Given the description of an element on the screen output the (x, y) to click on. 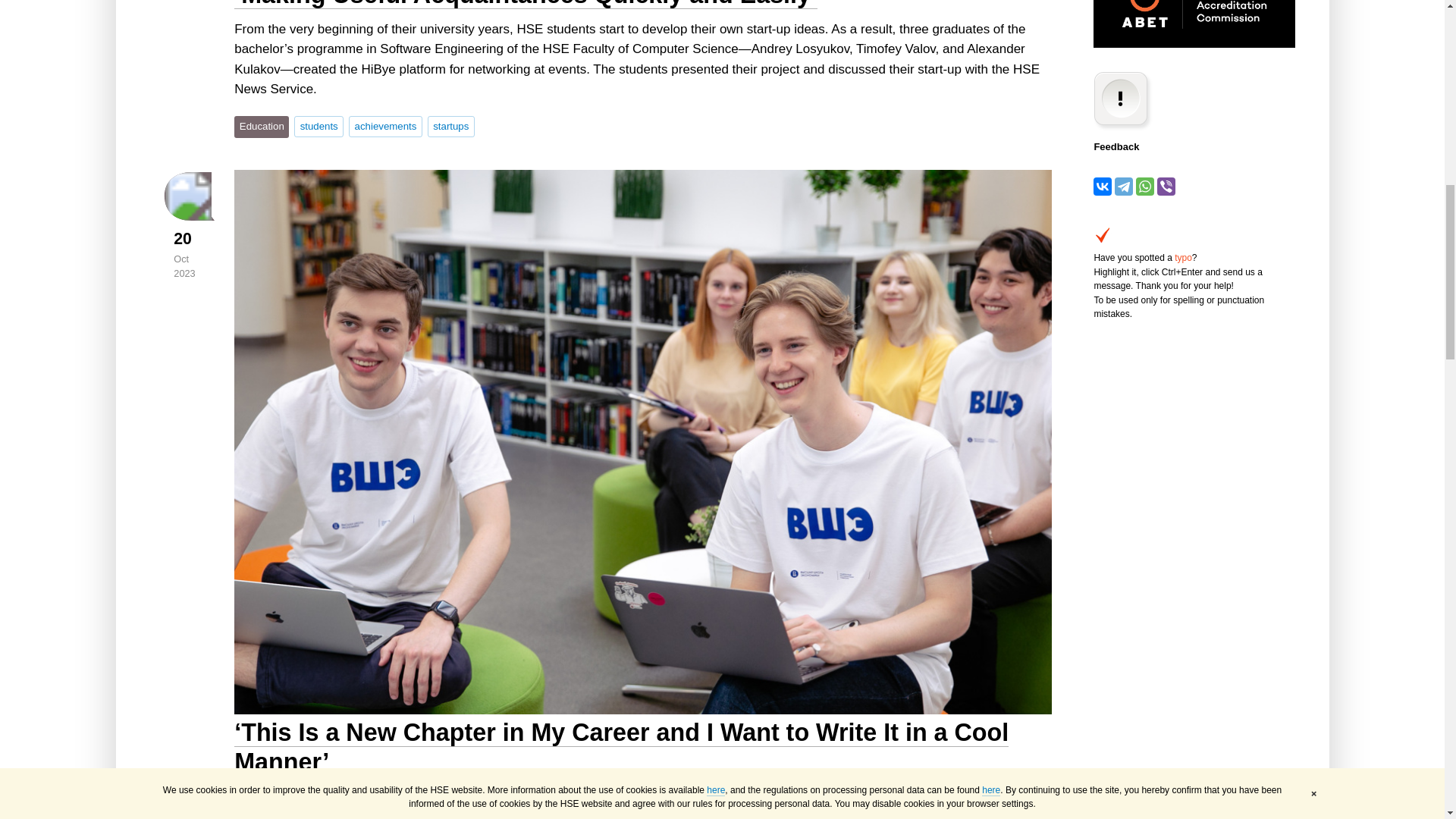
achievements (385, 126)
startups (451, 126)
Telegram (1123, 186)
VKontakte (1102, 186)
Viber (1165, 186)
students (318, 126)
WhatsApp (1144, 186)
